Given the description of an element on the screen output the (x, y) to click on. 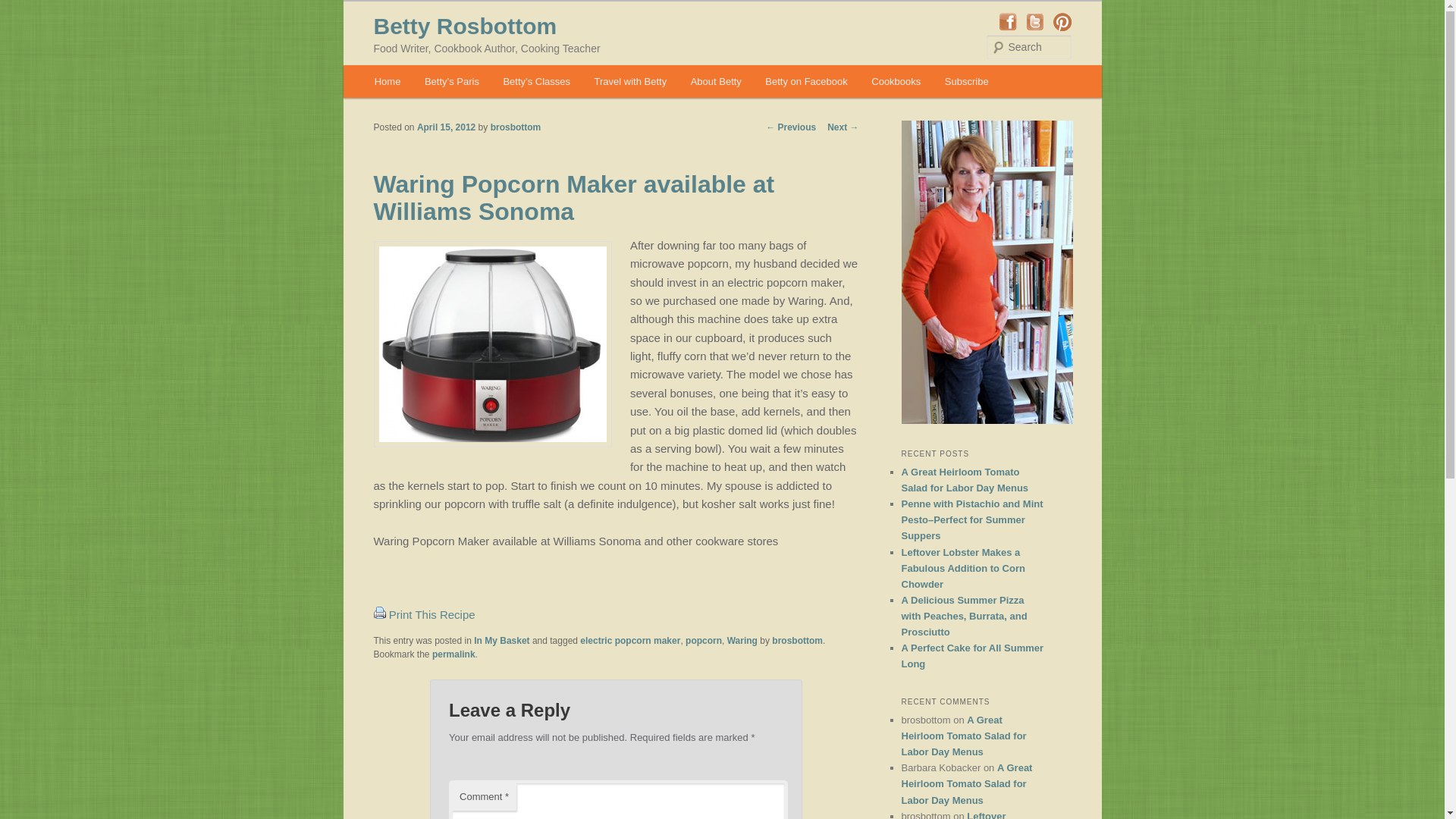
A Great Heirloom Tomato Salad for Labor Day Menus (966, 783)
Subscribe (966, 81)
Print This Recipe (378, 614)
Betty Rosbottom (464, 25)
April 15, 2012 (446, 127)
Skip to secondary content (448, 84)
About Betty (716, 81)
brosbottom (515, 127)
View all posts by brosbottom (515, 127)
Search (24, 8)
